Given the description of an element on the screen output the (x, y) to click on. 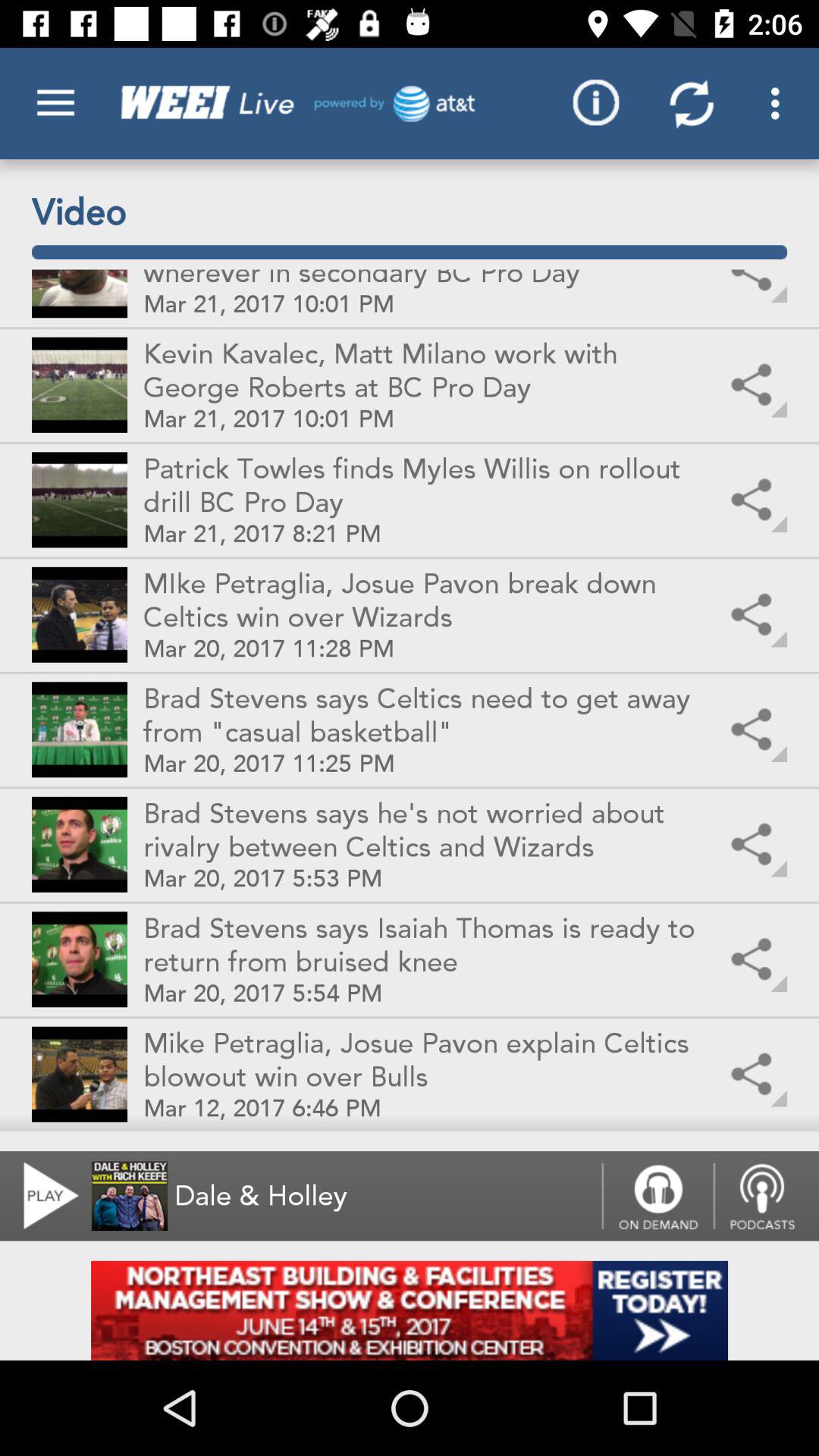
open advertisement (409, 1310)
